Given the description of an element on the screen output the (x, y) to click on. 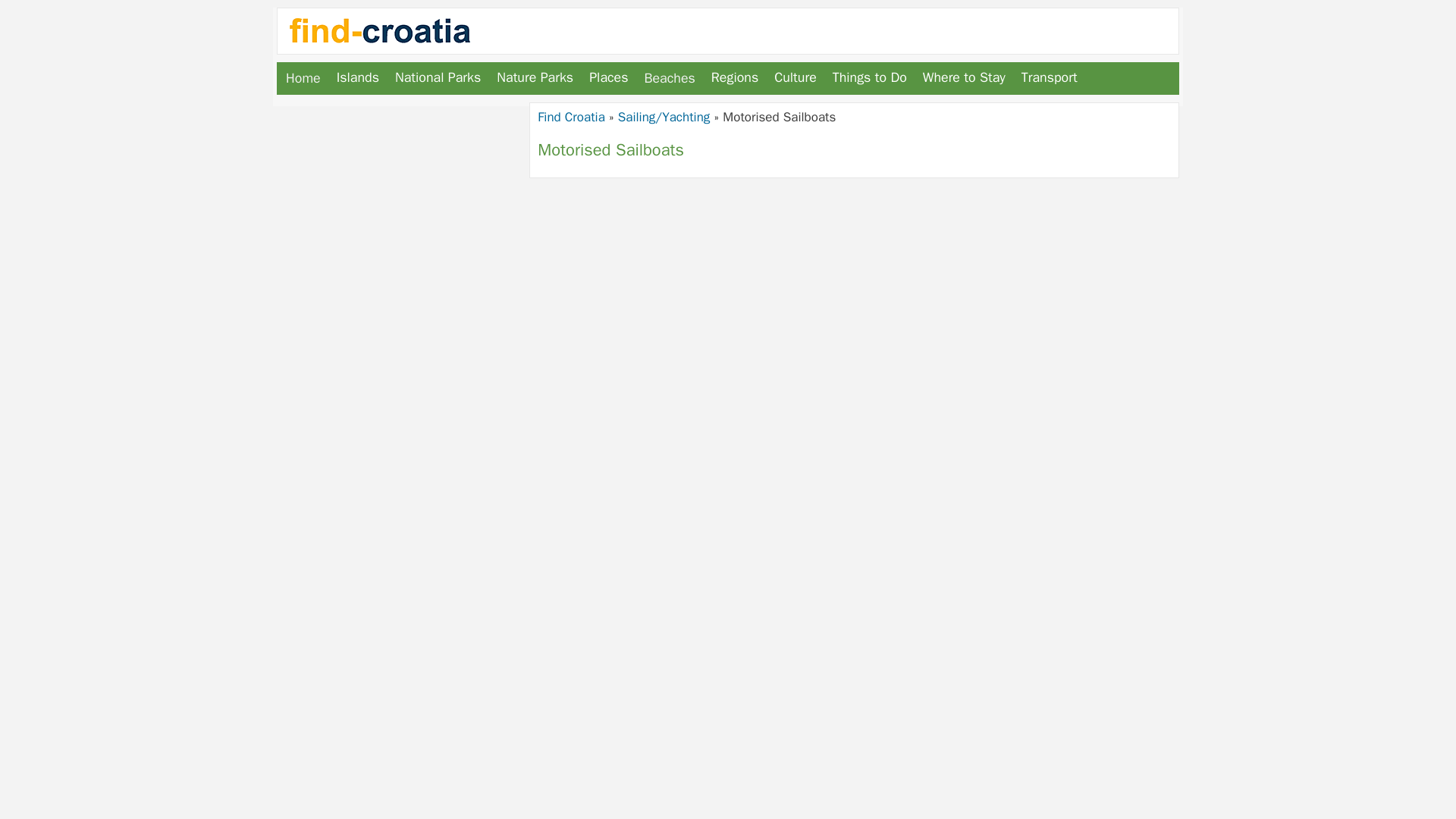
Find Croatia home (303, 78)
Home (303, 78)
Culture (795, 77)
Places (608, 77)
Nature Parks (534, 77)
National Parks (437, 77)
Regions (734, 77)
Islands (357, 77)
Beaches (668, 78)
